Given the description of an element on the screen output the (x, y) to click on. 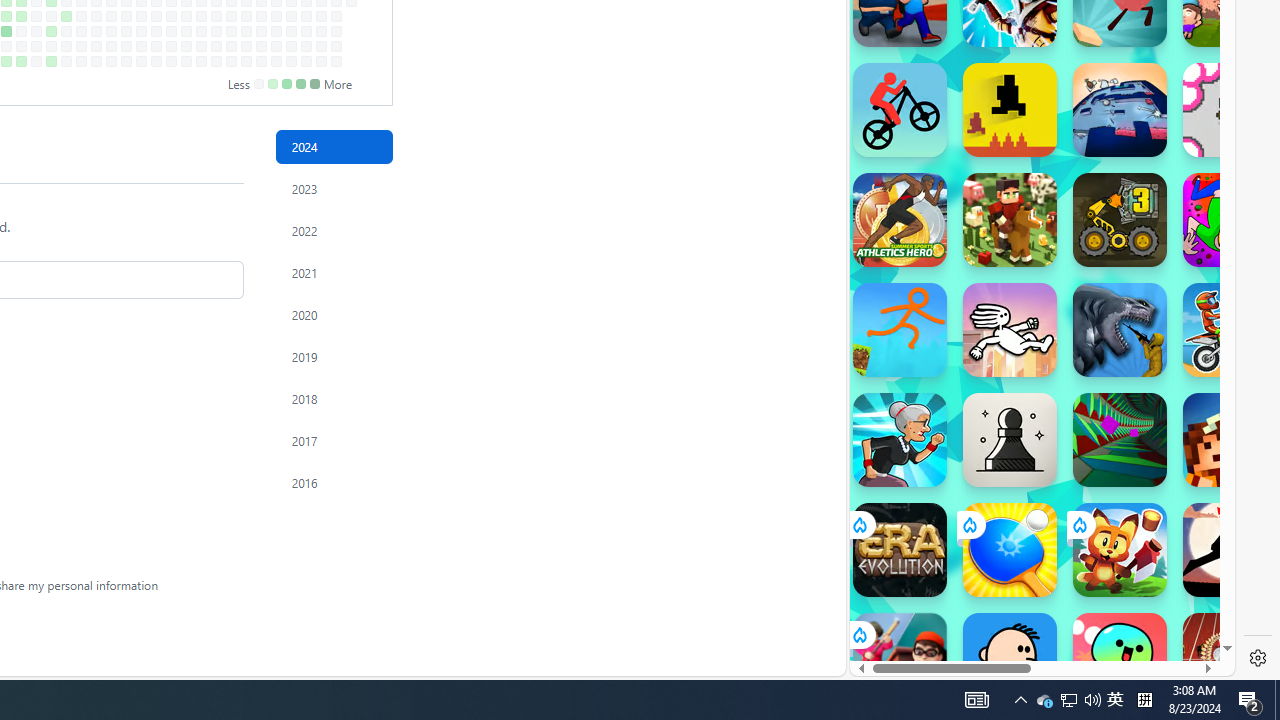
2023 (333, 188)
1 contribution on August 15th. (51, 30)
No contributions on September 21st. (126, 61)
Hills of Steel (943, 200)
School Escape! (899, 659)
Contribution activity in 2022 (333, 230)
Blumgi Slime Blumgi Slime (1119, 659)
Contribution activity in 2021 (333, 273)
No contributions on October 25th. (201, 46)
Contribution activity in 2020 (333, 314)
No contributions on December 5th. (290, 30)
JollyWorld JollyWorld (1229, 219)
1 contribution on July 27th. (6, 61)
Classic Chess Classic Chess (1009, 439)
Stickman Parkour Skyland Stickman Parkour Skyland (899, 329)
